Given the description of an element on the screen output the (x, y) to click on. 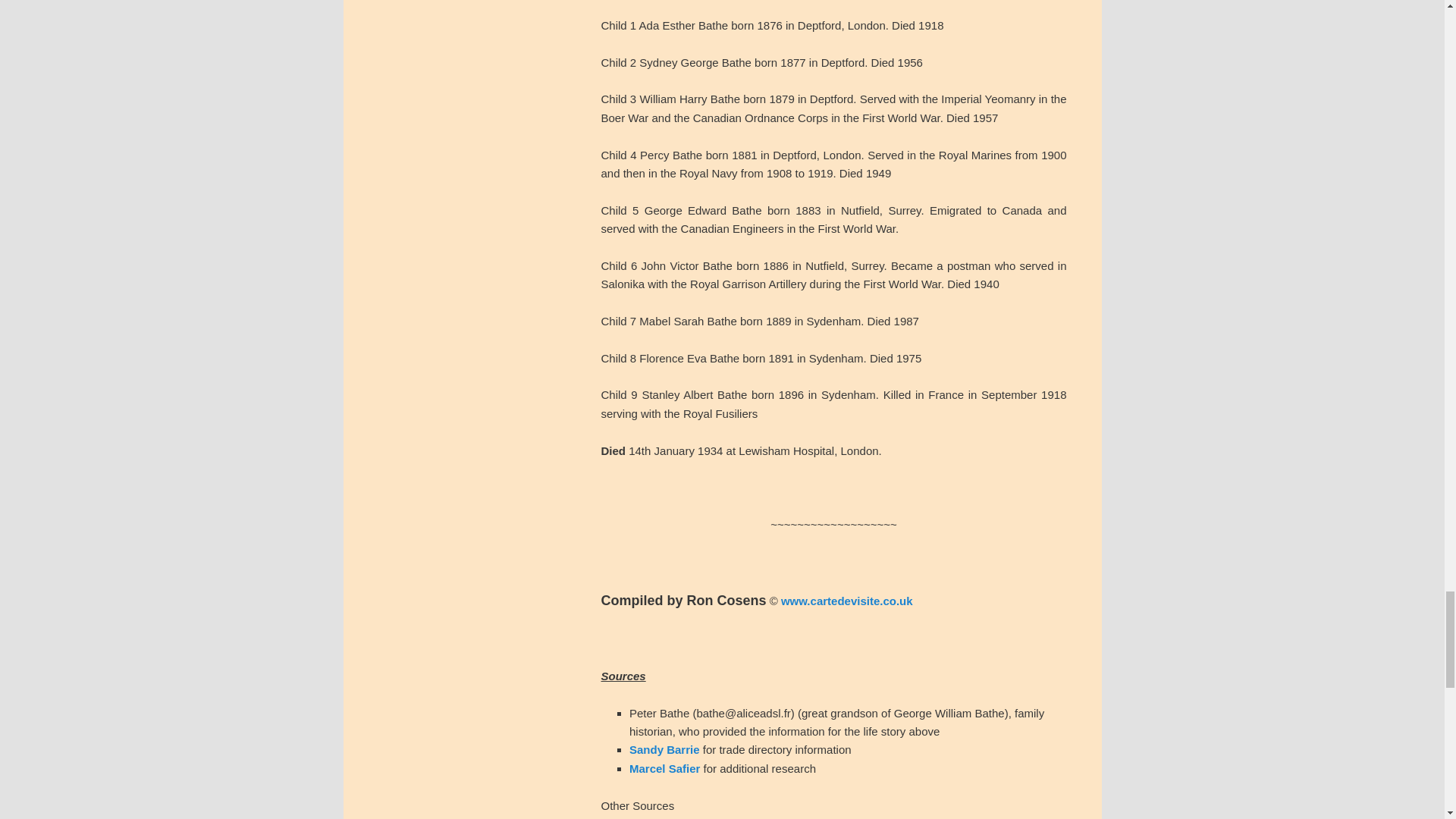
Link to Carte de Visite Photographers website (846, 600)
Link to Sandy Barrie webpage (664, 748)
Link to Marcel Safier (664, 768)
